Given the description of an element on the screen output the (x, y) to click on. 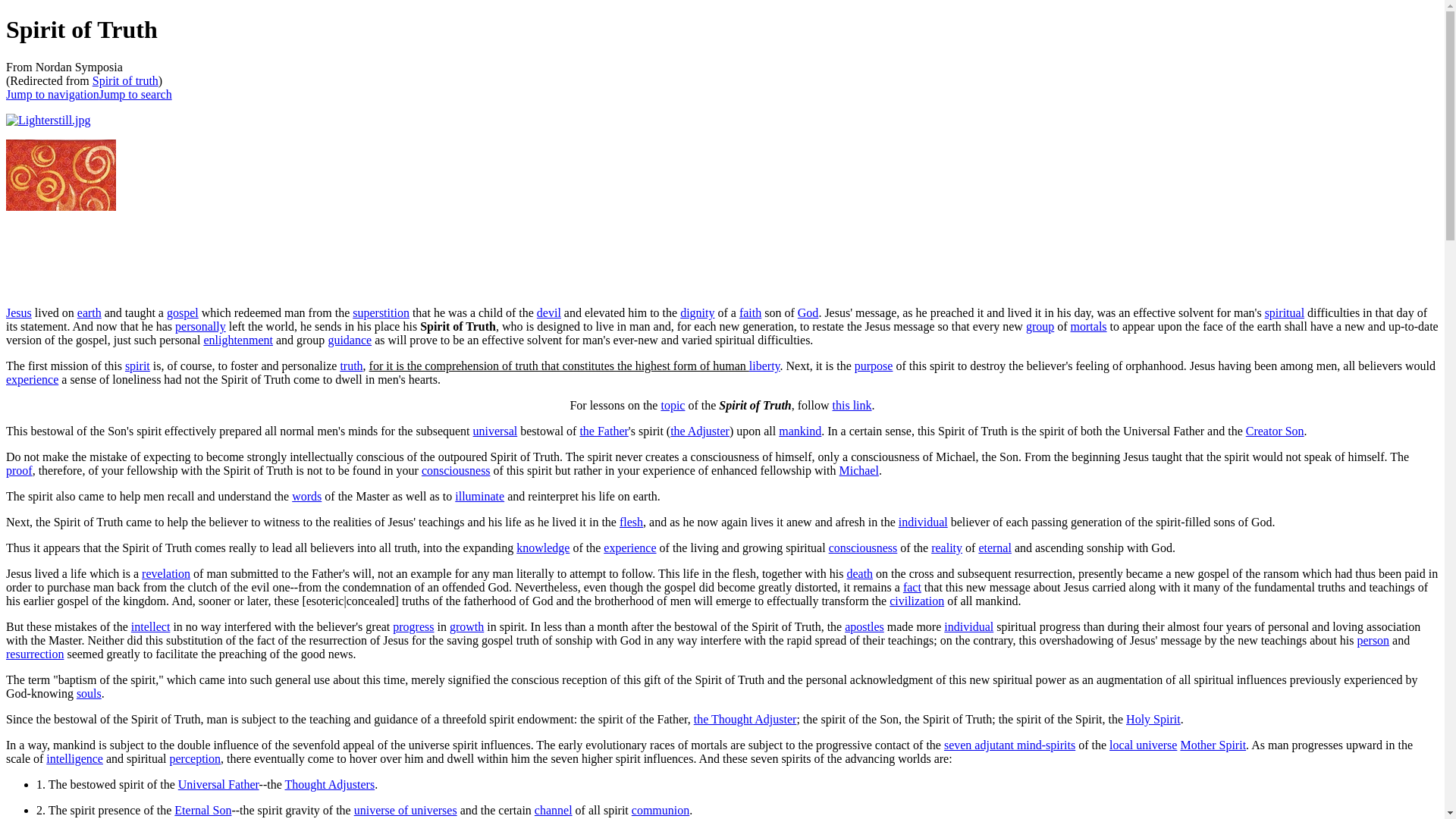
Guidance (349, 339)
Mortals (1088, 326)
Gospel (182, 312)
Spirit (137, 365)
Creator Son (1275, 431)
God (807, 312)
proof (18, 470)
personally (199, 326)
purpose (873, 365)
Faith (750, 312)
